Given the description of an element on the screen output the (x, y) to click on. 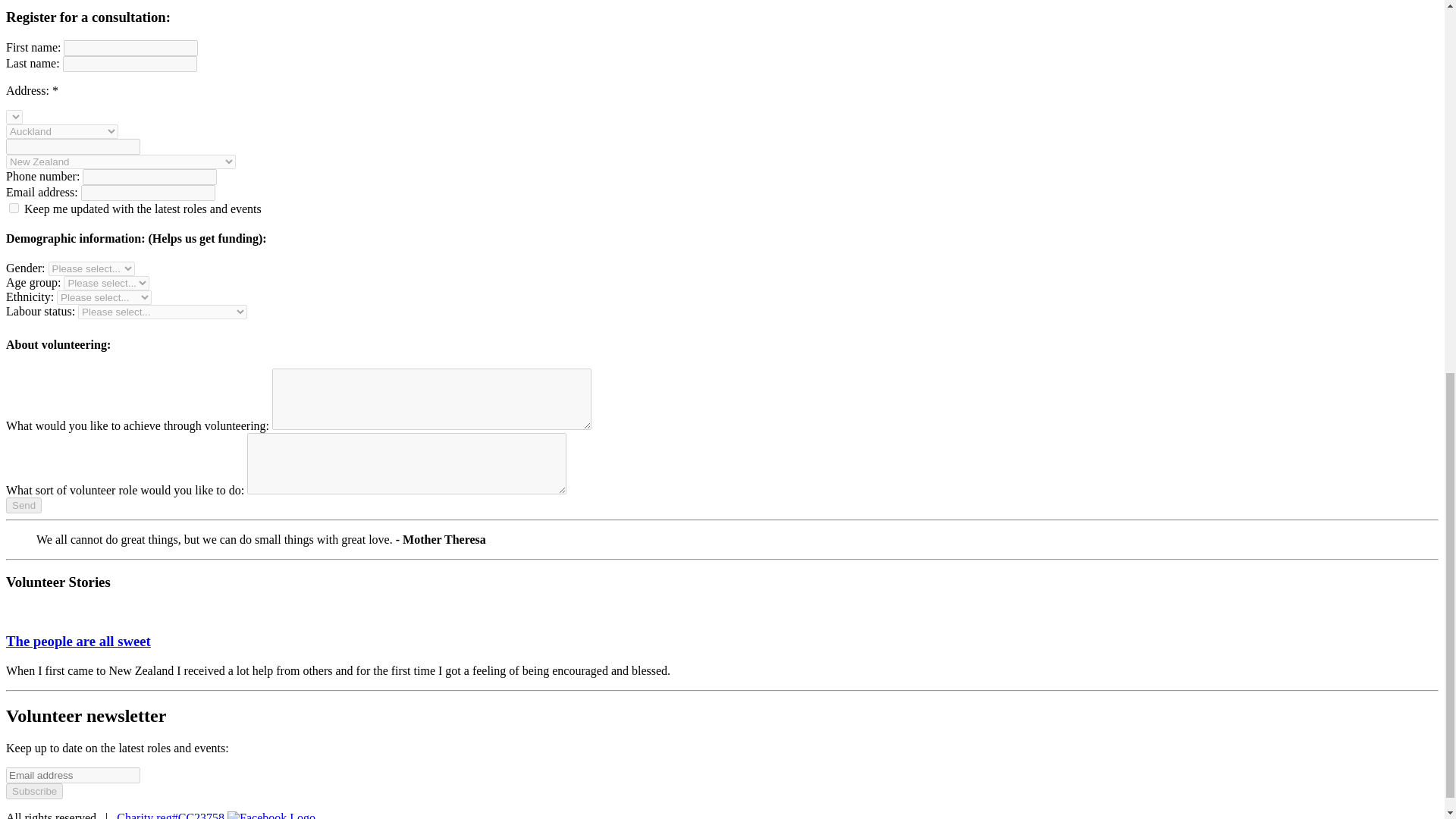
The people are all sweet (78, 641)
Send (23, 505)
Subscribe (33, 790)
Subscribe (33, 790)
Send (23, 505)
1 (13, 207)
